Given the description of an element on the screen output the (x, y) to click on. 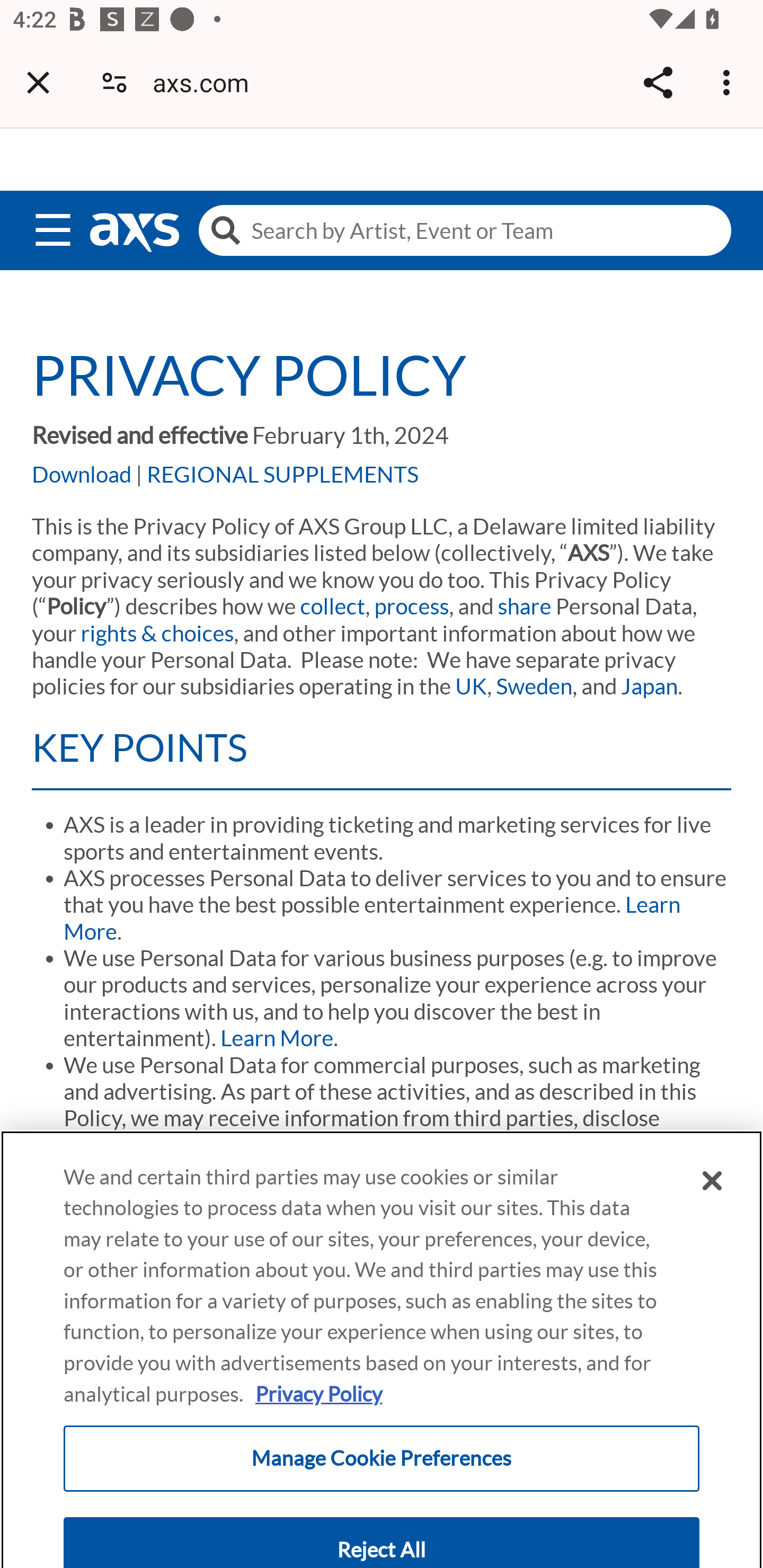
Close tab (38, 82)
Share (657, 82)
Customize and control Google Chrome (729, 82)
Connection is secure (114, 81)
axs.com (206, 81)
menu (53, 226)
axs-logo (134, 232)
Download (82, 473)
REGIONAL SUPPLEMENTS (282, 473)
collect (332, 605)
process (411, 605)
share (525, 605)
rights & choices (157, 632)
UK (472, 686)
Sweden (536, 686)
Japan (652, 686)
Learn More (372, 917)
Learn More (276, 1038)
Reject All (381, 1454)
Accept All (381, 1540)
